Given the description of an element on the screen output the (x, y) to click on. 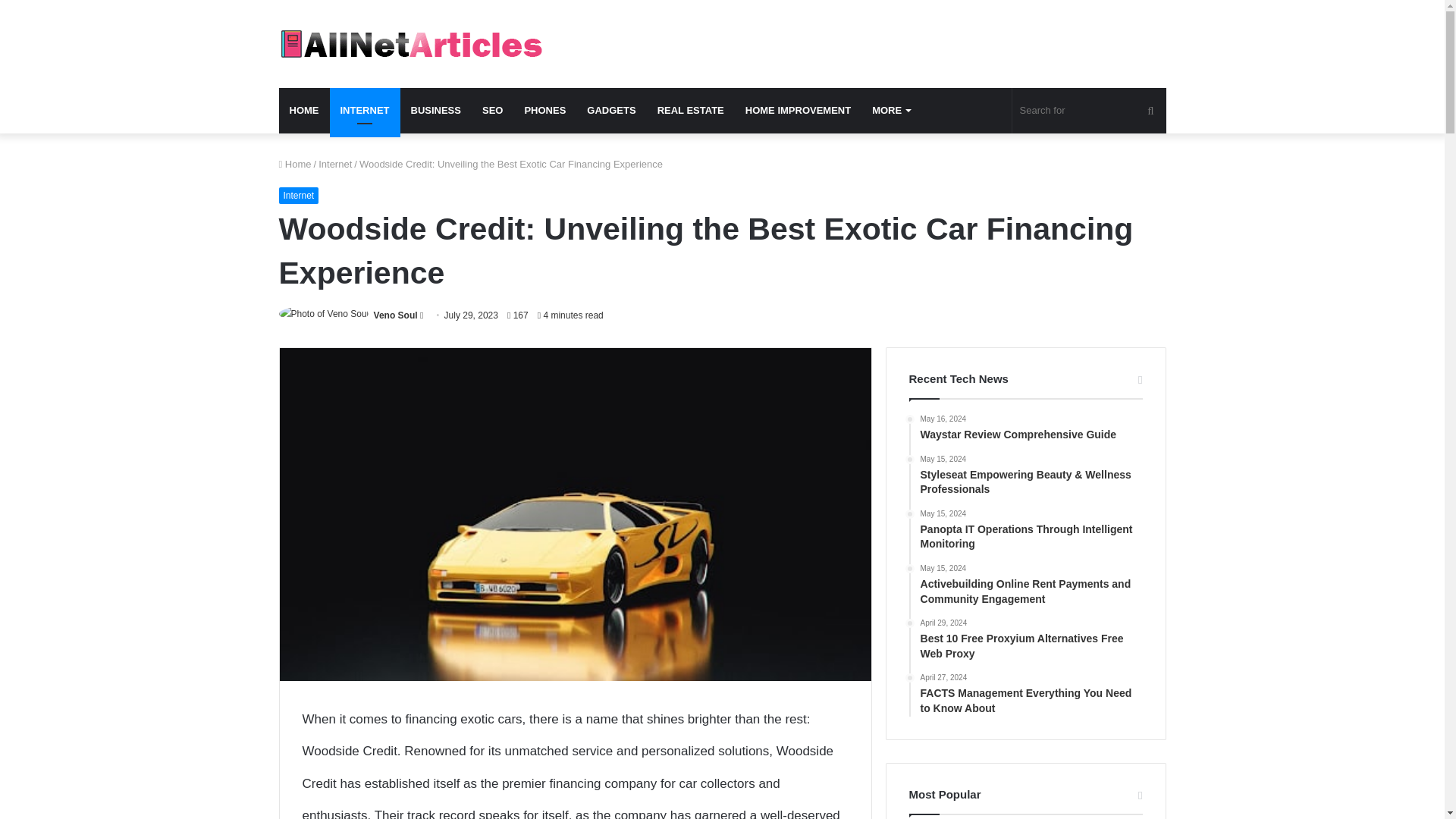
PHONES (544, 110)
HOME (304, 110)
Search for (1088, 110)
SEO (492, 110)
BUSINESS (435, 110)
Home (295, 163)
HOME IMPROVEMENT (798, 110)
Internet (335, 163)
Search for (1150, 110)
AllNetArticles (410, 43)
Veno Soul (395, 315)
MORE (890, 110)
Veno Soul (395, 315)
INTERNET (363, 110)
